Given the description of an element on the screen output the (x, y) to click on. 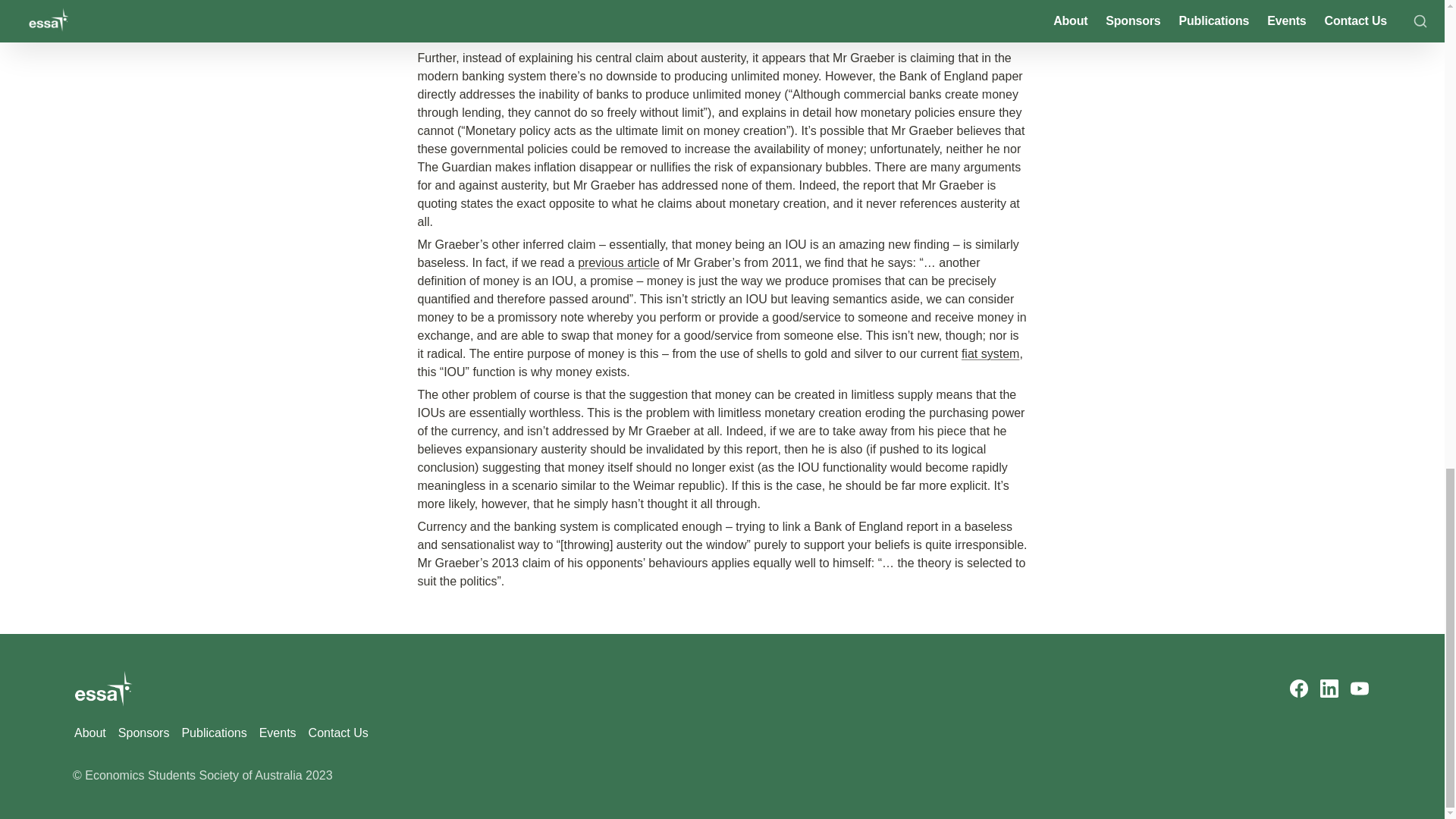
Events (277, 733)
fiat system (989, 353)
LinkedIn (1329, 688)
About (89, 733)
Contact Us (338, 733)
previous article (618, 262)
YouTube (1359, 688)
YouTube (1359, 688)
Publications (213, 733)
Facebook (1298, 688)
